Given the description of an element on the screen output the (x, y) to click on. 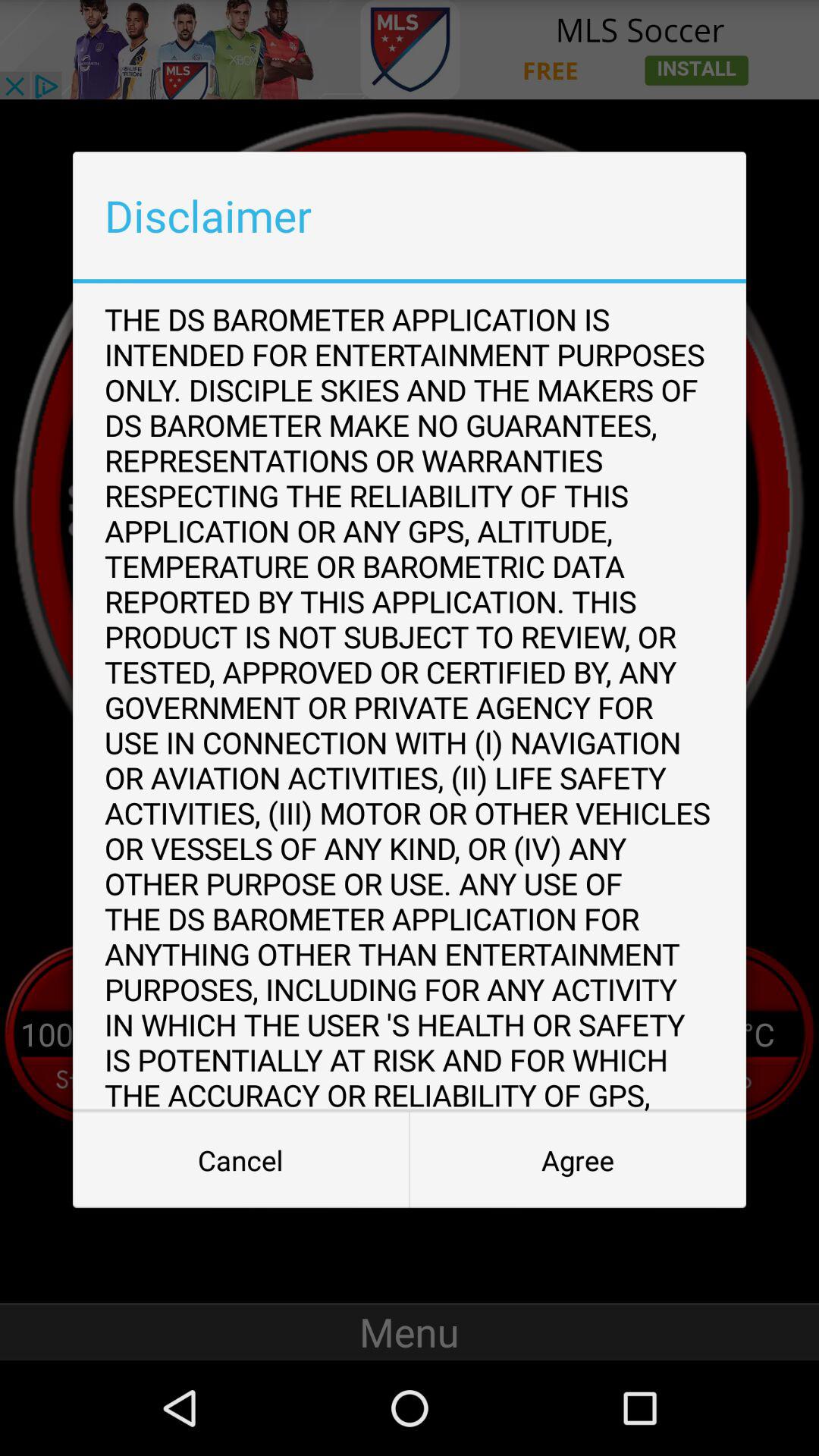
turn on button next to agree button (240, 1160)
